Given the description of an element on the screen output the (x, y) to click on. 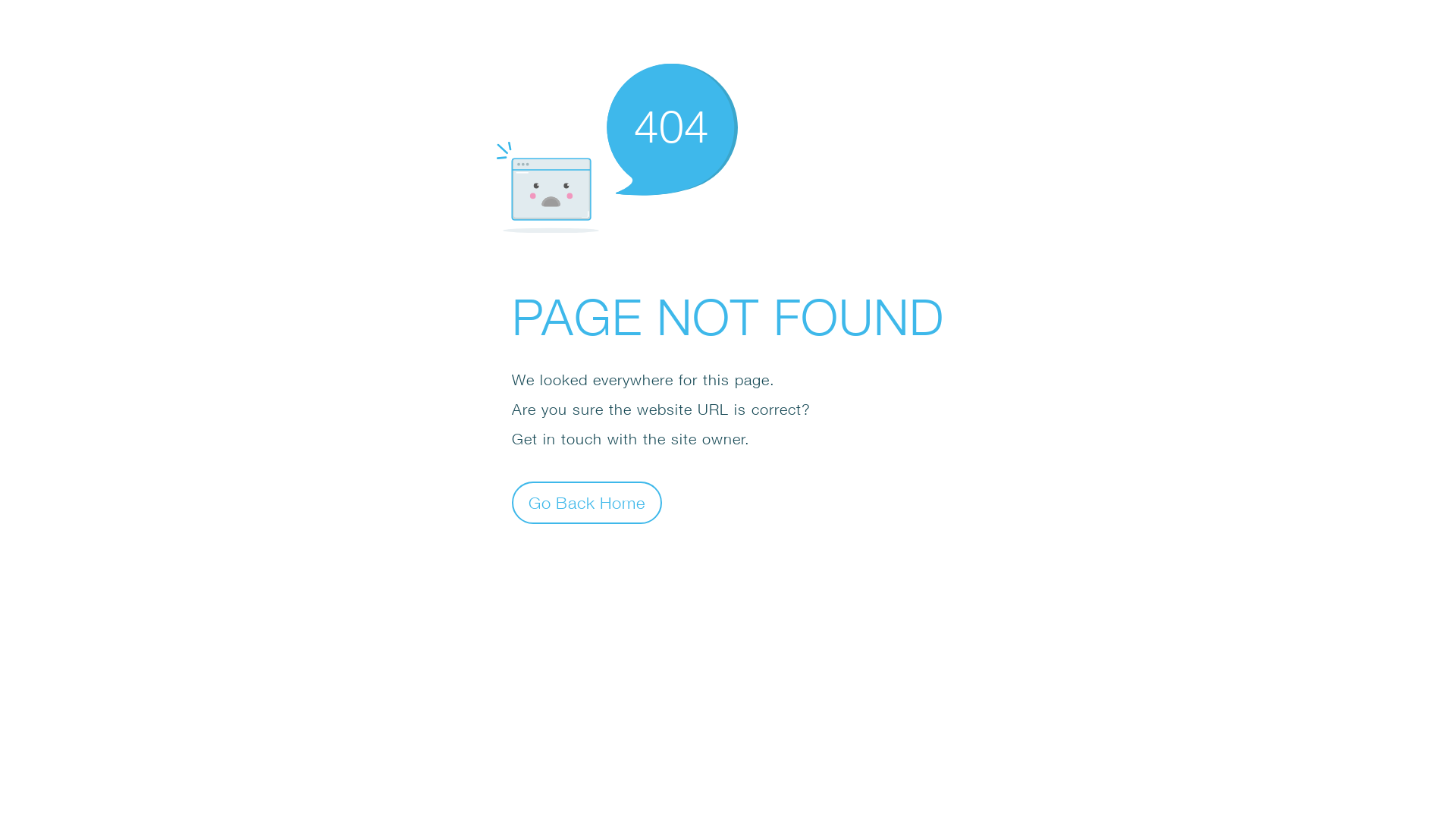
Go Back Home Element type: text (586, 502)
